Given the description of an element on the screen output the (x, y) to click on. 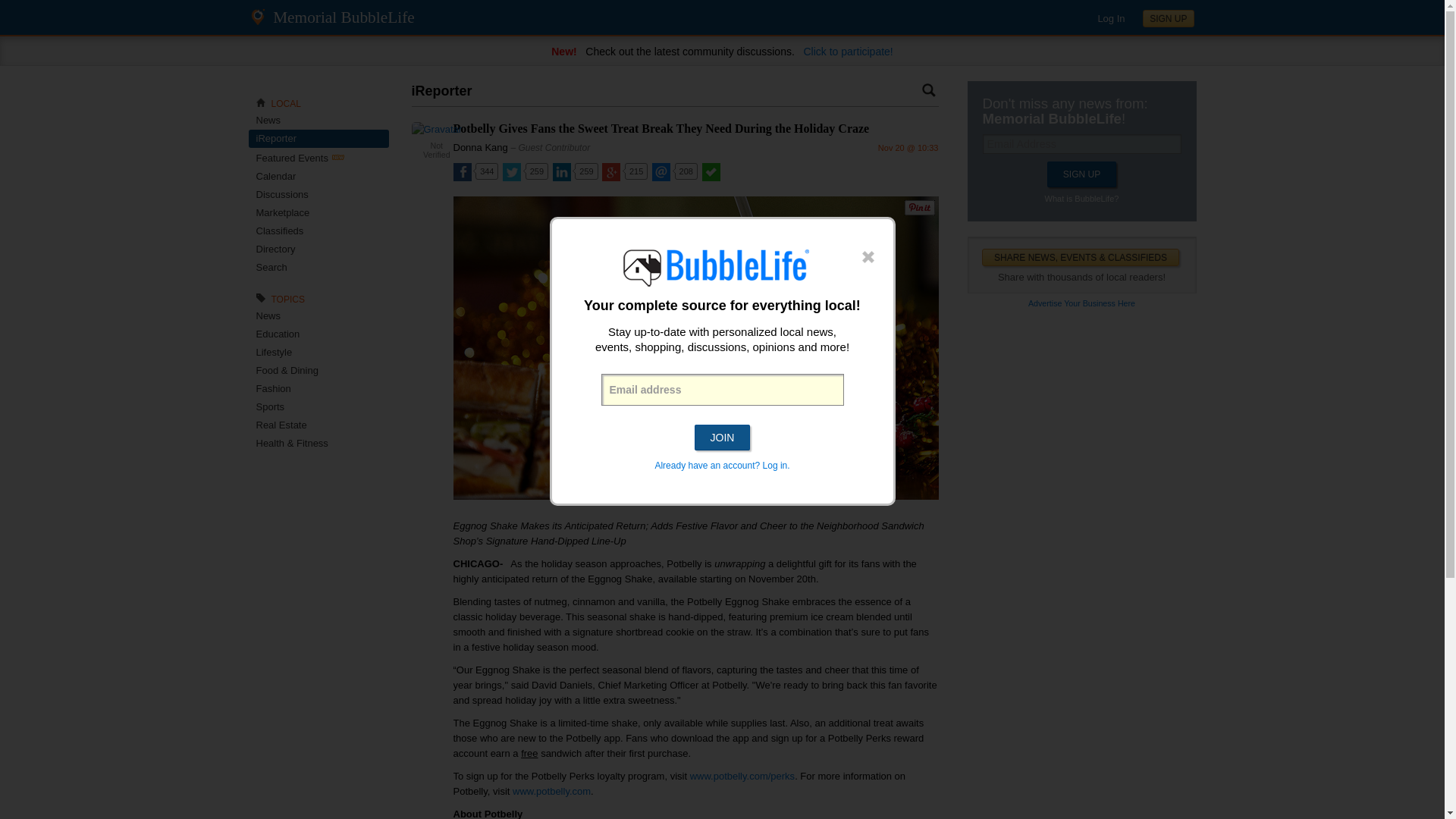
Sign Up (1081, 174)
Join (722, 437)
Already have a BubbleLife account? (1110, 18)
Sign up for free (1167, 18)
SIGN UP (1167, 18)
Click to participate! (847, 51)
Log In (1110, 18)
Join (722, 437)
Already have an account? Log in. (721, 465)
Memorial BubbleLife (343, 17)
Close (867, 257)
